Given the description of an element on the screen output the (x, y) to click on. 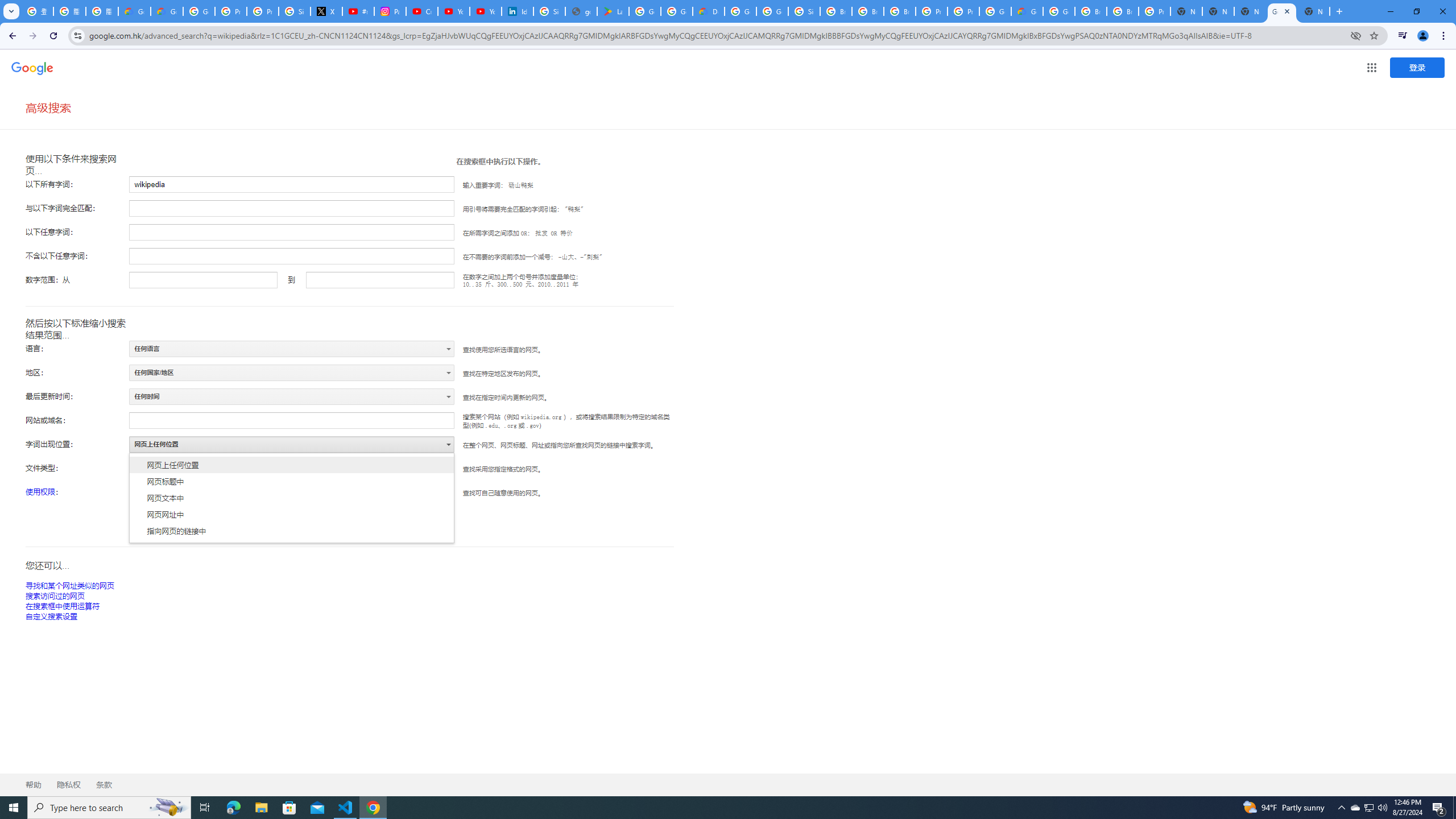
Google Workspace - Specific Terms (676, 11)
Sign in - Google Accounts (804, 11)
Google Cloud Estimate Summary (1027, 11)
AutomationID: as_occt_menu (291, 497)
Google Cloud Privacy Notice (166, 11)
